Given the description of an element on the screen output the (x, y) to click on. 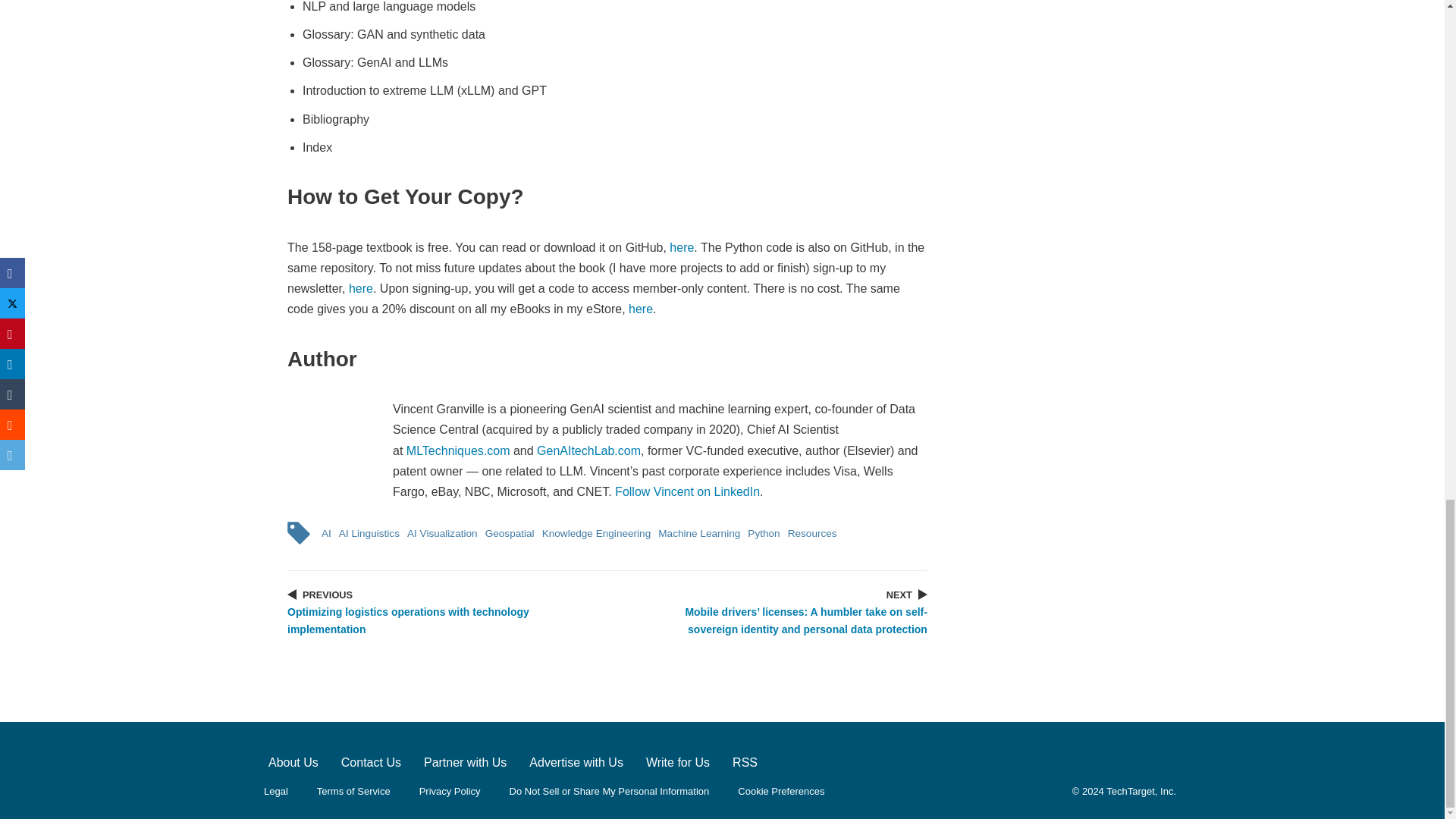
Knowledge Engineering (596, 533)
Geospatial (509, 533)
Python (763, 533)
Machine Learning (698, 533)
AI Linguistics (368, 533)
Resources (812, 533)
AI Visualization (442, 533)
AI (325, 533)
